Given the description of an element on the screen output the (x, y) to click on. 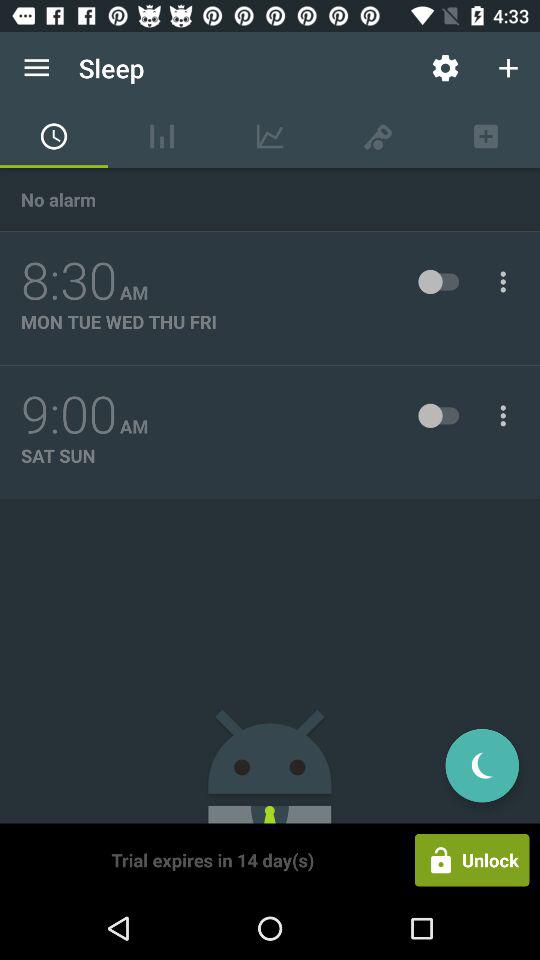
tap the 8:30 item (69, 281)
